Given the description of an element on the screen output the (x, y) to click on. 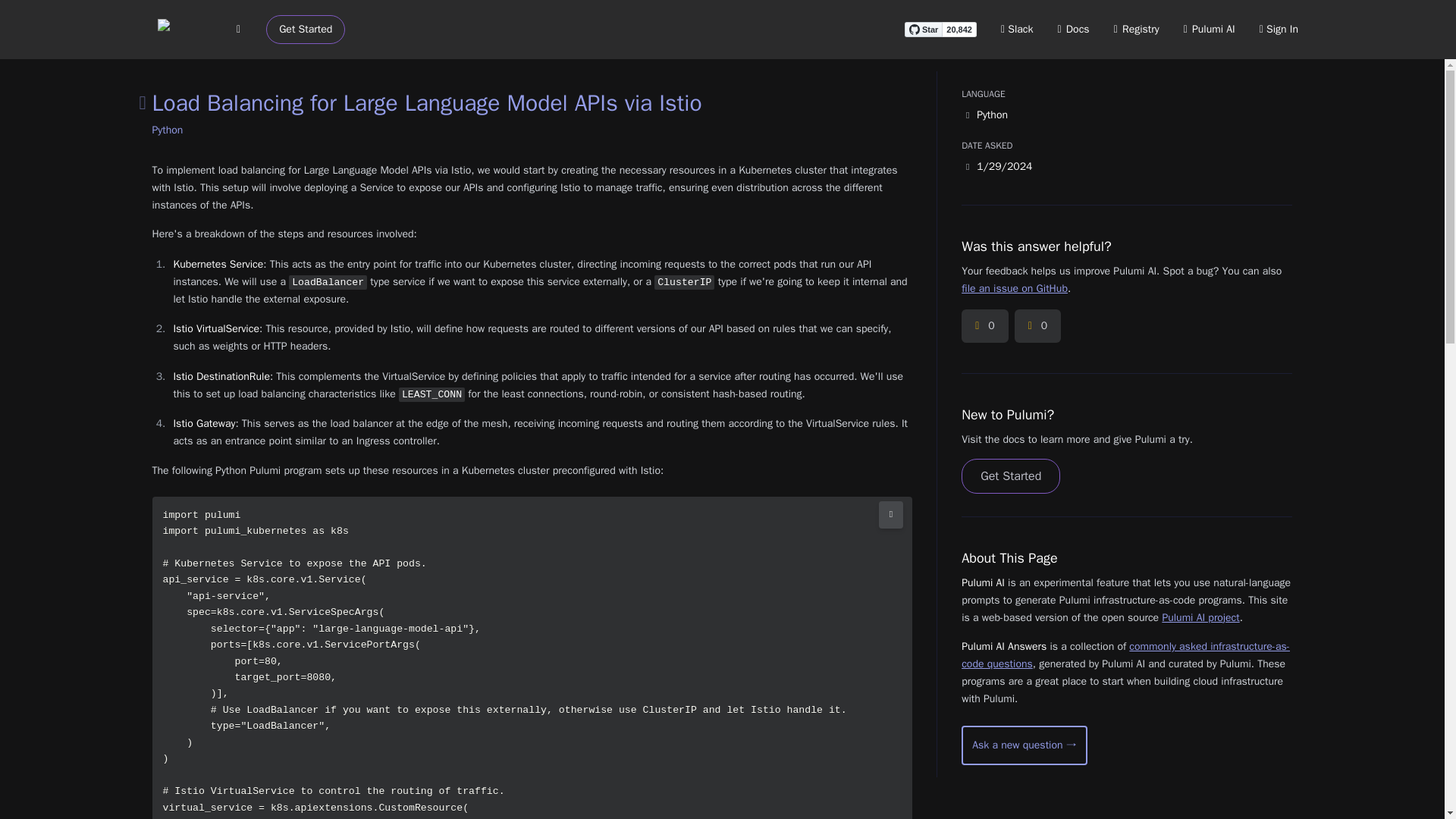
Pulumi AI (1208, 29)
Upvote this answer (984, 326)
0 (984, 326)
Start a new conversation with Pulumi AI (1023, 744)
Get Started (305, 29)
Docs (1073, 29)
 Star (923, 29)
Slack (1017, 29)
Get Started (1009, 475)
0 (1037, 326)
